Given the description of an element on the screen output the (x, y) to click on. 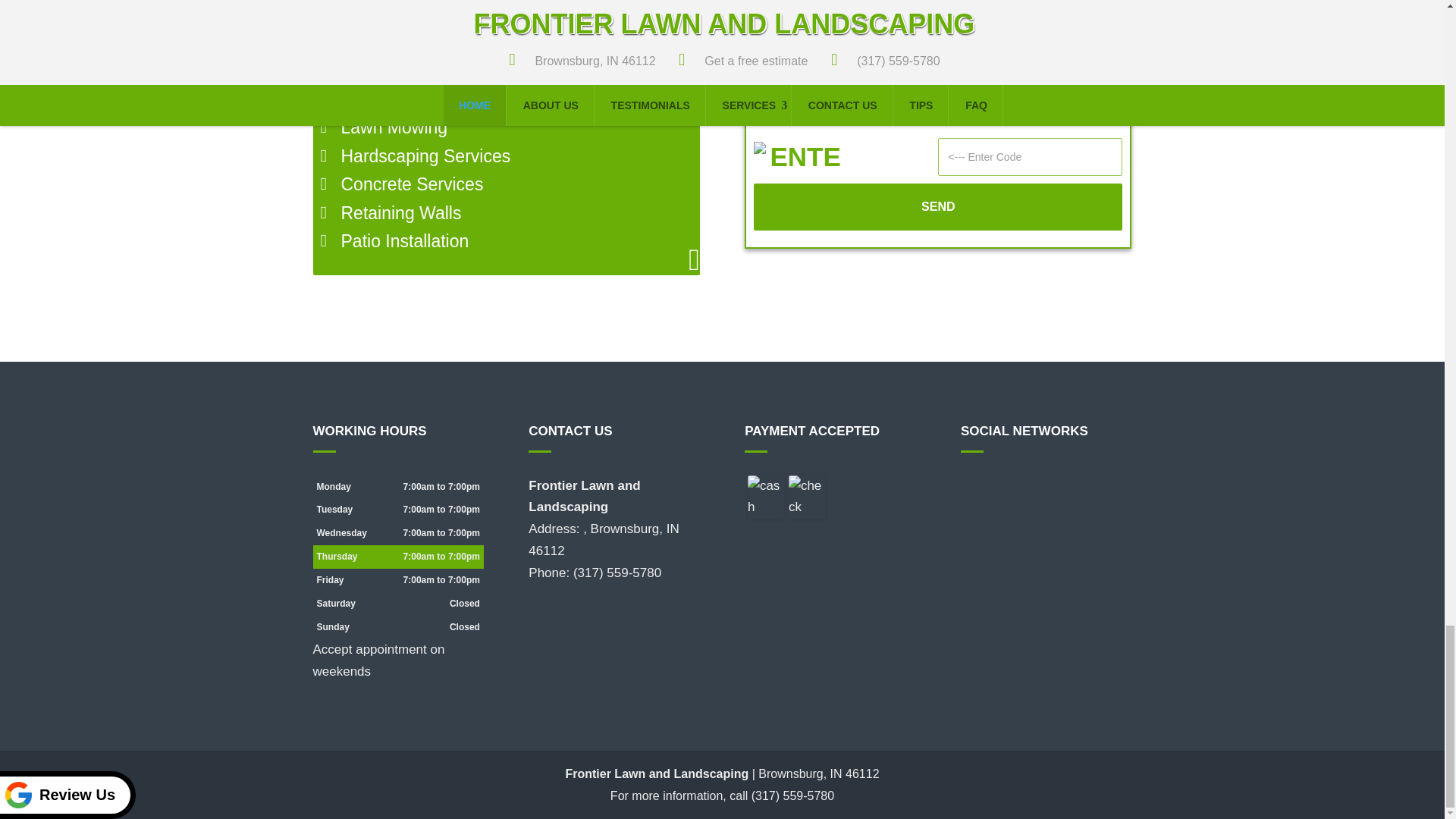
Check company profile on google (1001, 487)
Check company profile on twitter (1029, 487)
Message (938, 74)
Customer E-mail (938, 4)
twitter (1029, 487)
google (1001, 487)
Check company profile on facebook (972, 487)
Send (938, 206)
Code (1029, 157)
facebook (972, 487)
